Given the description of an element on the screen output the (x, y) to click on. 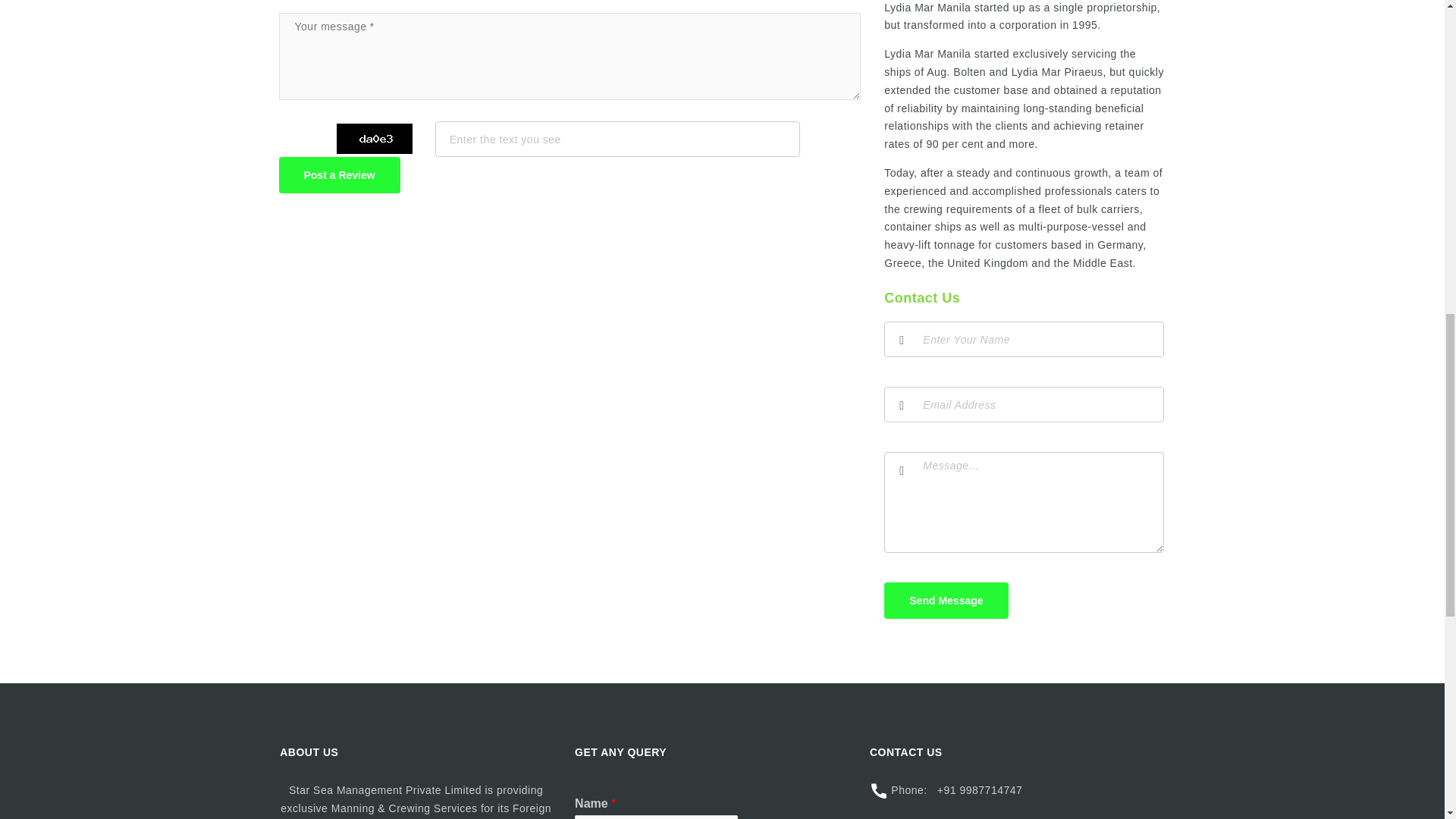
Send Message (945, 600)
Post a Review (339, 175)
